Given the description of an element on the screen output the (x, y) to click on. 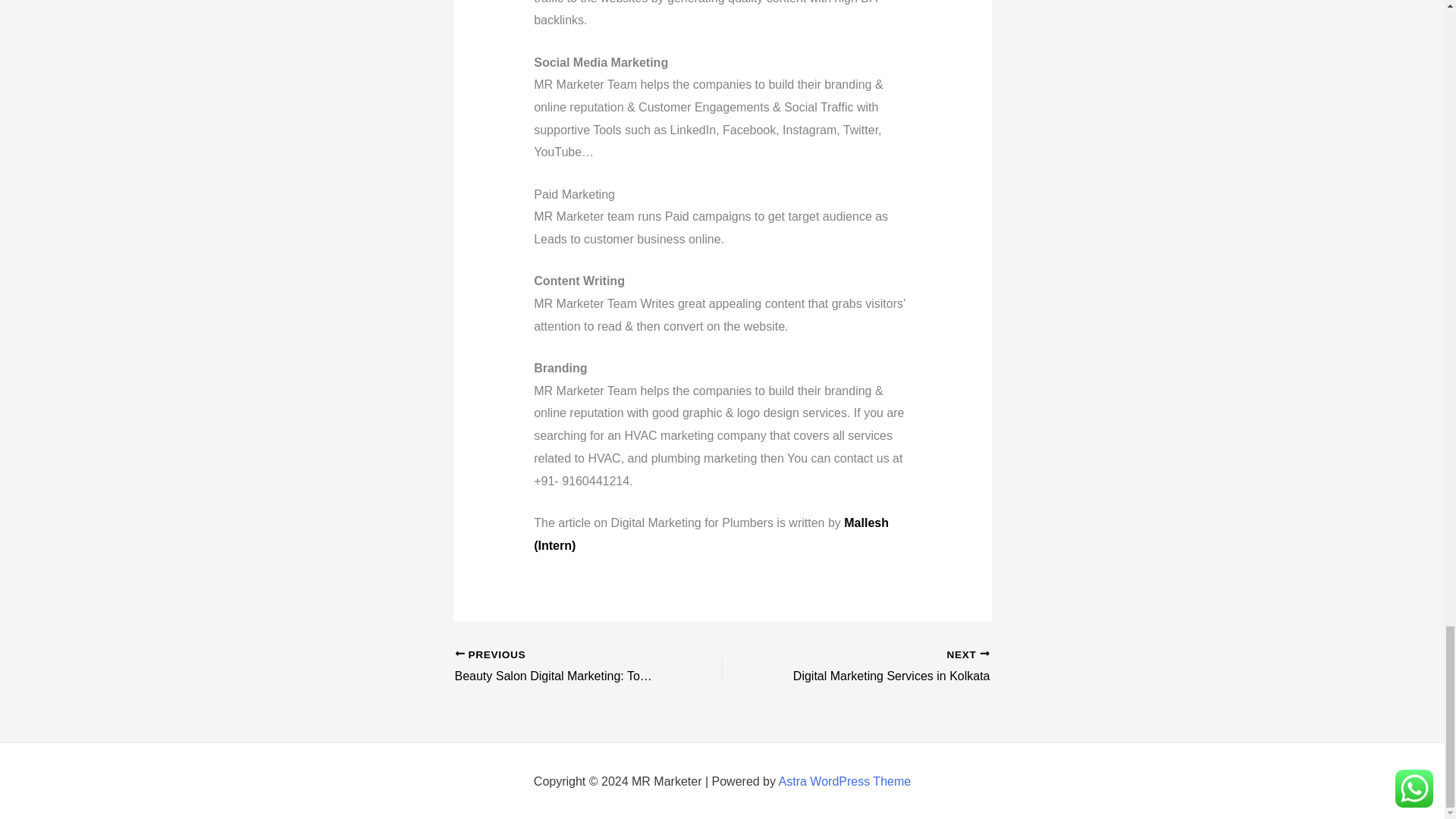
Digital Marketing Services in Kolkata (561, 667)
Astra WordPress Theme (882, 667)
Beauty Salon Digital Marketing: Top 5 Tips (844, 780)
